Given the description of an element on the screen output the (x, y) to click on. 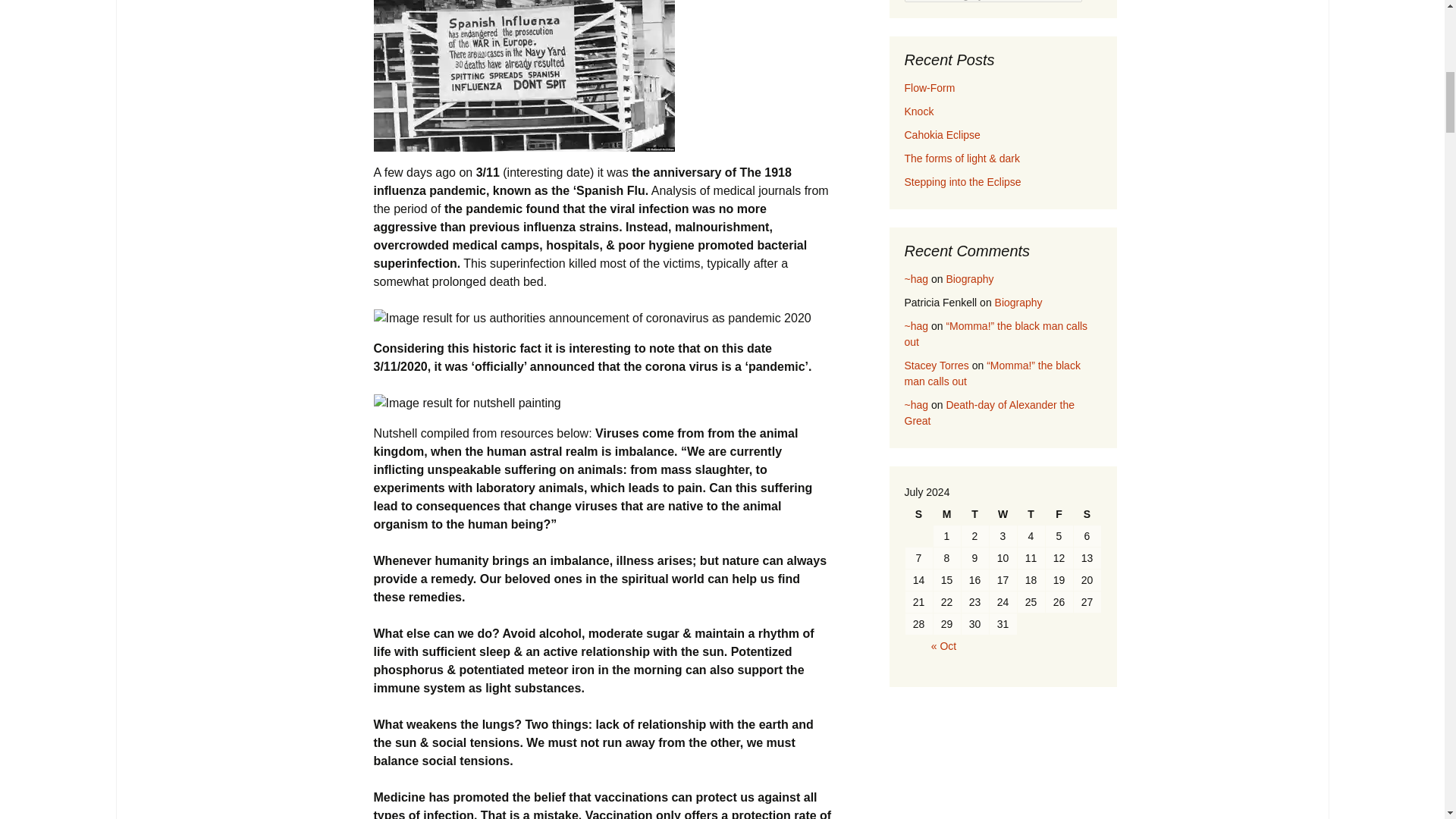
Wednesday (1002, 513)
Friday (1058, 513)
Thursday (1031, 513)
Saturday (1087, 513)
Sunday (919, 513)
Tuesday (974, 513)
Monday (946, 513)
